Given the description of an element on the screen output the (x, y) to click on. 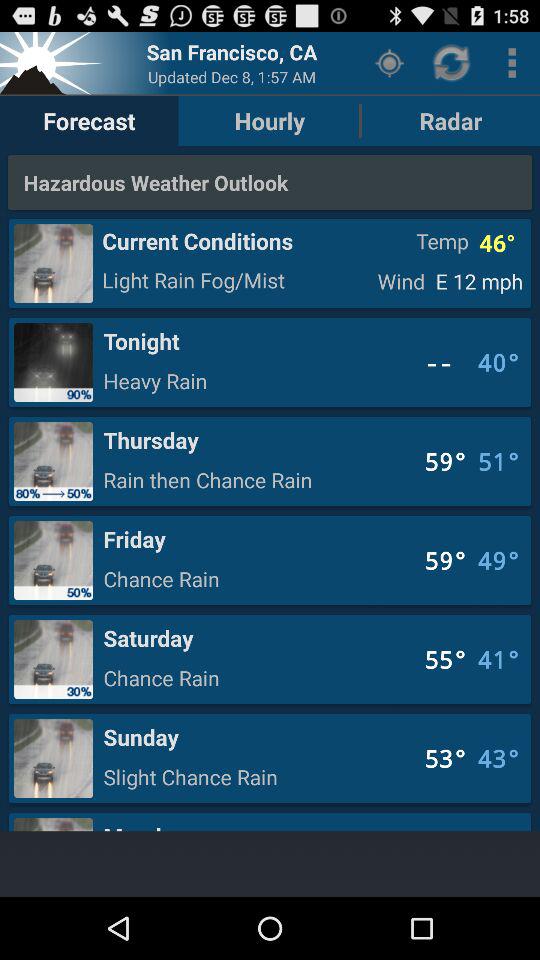
launch the forecast button (89, 120)
